Given the description of an element on the screen output the (x, y) to click on. 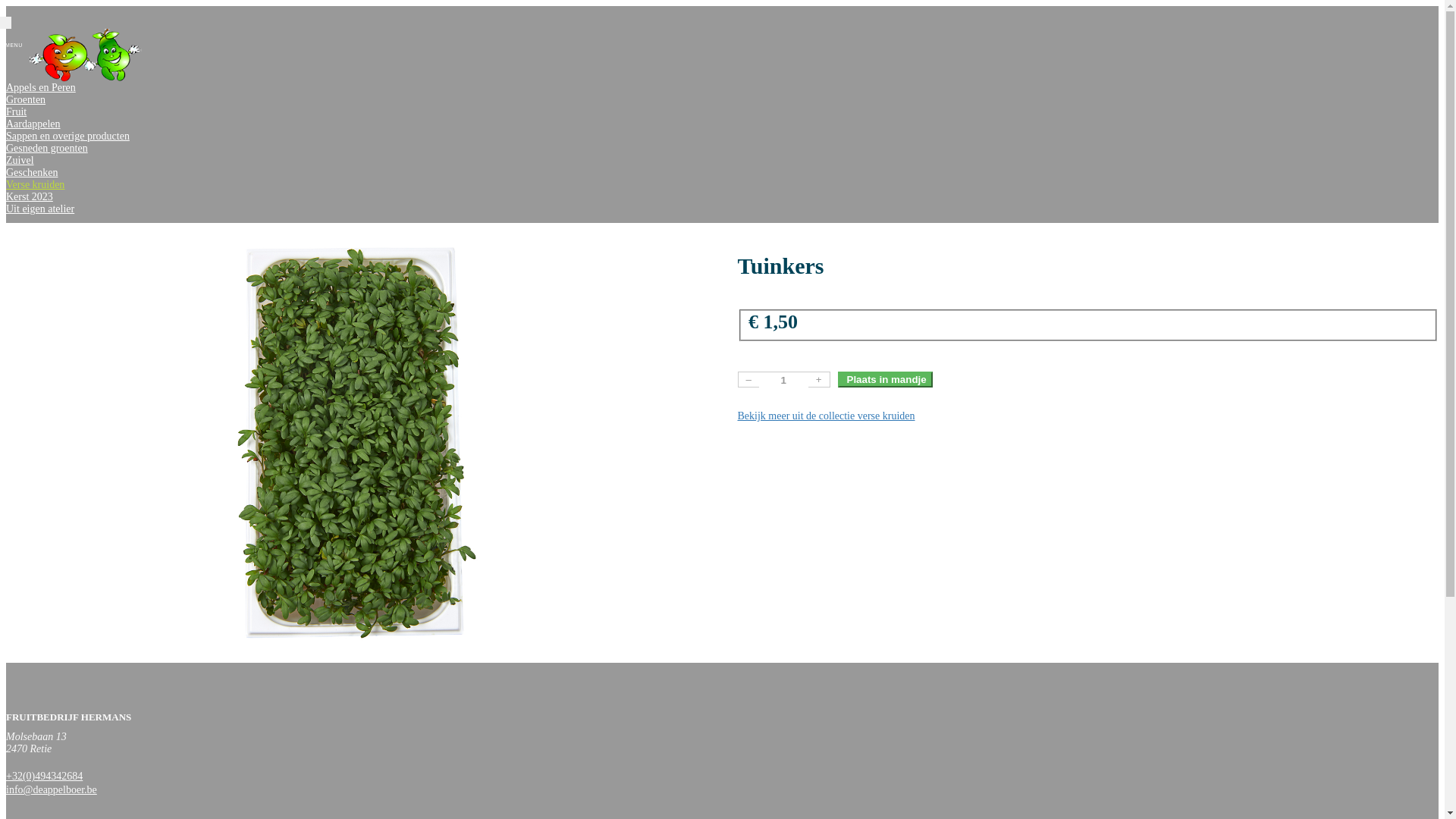
Groenten Element type: text (25, 99)
Verse kruiden Element type: text (35, 184)
Geschenken Element type: text (31, 172)
Zuivel Element type: text (20, 160)
Gesneden groenten Element type: text (46, 147)
Appels en Peren Element type: text (40, 87)
Fruit Element type: text (16, 111)
Plaats in mandje Element type: text (884, 379)
Kerst 2023 Element type: text (29, 196)
info@deappelboer.be Element type: text (51, 789)
Uit eigen atelier Element type: text (40, 208)
Aardappelen Element type: text (33, 123)
+32(0)494342684 Element type: text (44, 775)
+ Element type: text (818, 379)
Tuinkers Element type: hover (356, 442)
Bekijk meer uit de collectie verse kruiden Element type: text (825, 415)
Sappen en overige producten Element type: text (67, 135)
